Given the description of an element on the screen output the (x, y) to click on. 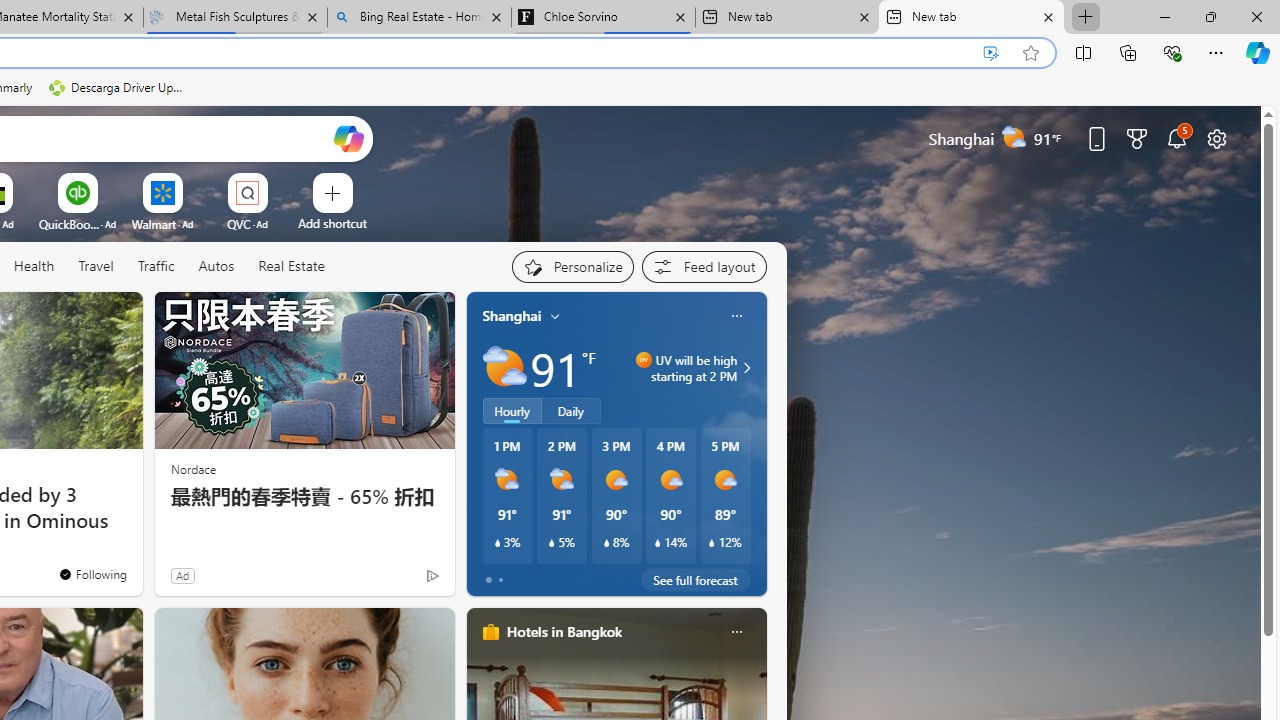
Descarga Driver Updater (118, 88)
Enhance video (991, 53)
Class: weather-arrow-glyph (746, 367)
Real Estate (291, 265)
Partly sunny (504, 368)
Shanghai (511, 315)
Health (33, 267)
